Given the description of an element on the screen output the (x, y) to click on. 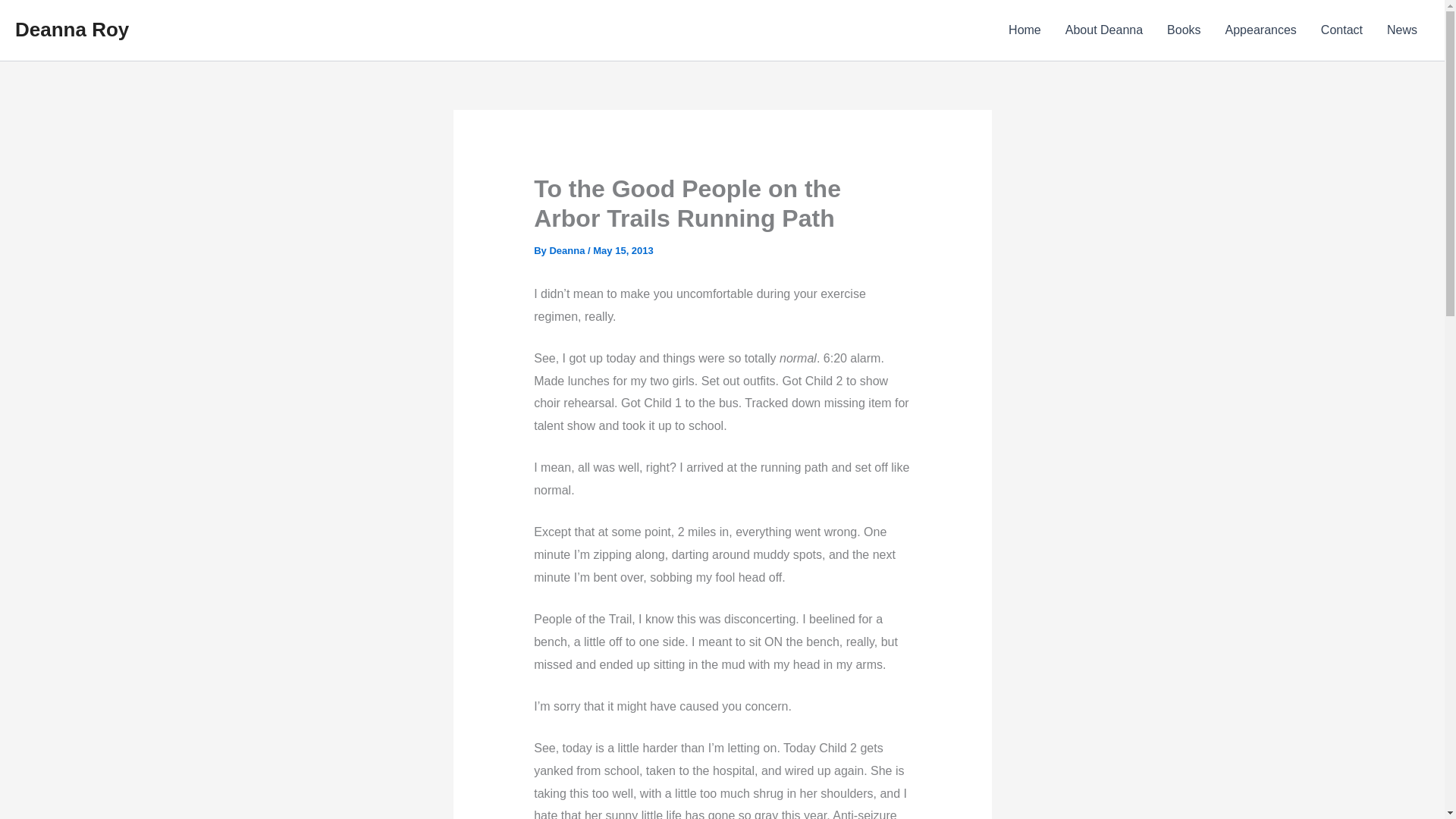
Deanna (568, 250)
Home (1023, 30)
Contact (1341, 30)
Deanna Roy (71, 29)
About Deanna (1103, 30)
Books (1183, 30)
News (1401, 30)
View all posts by Deanna (568, 250)
Appearances (1260, 30)
